Given the description of an element on the screen output the (x, y) to click on. 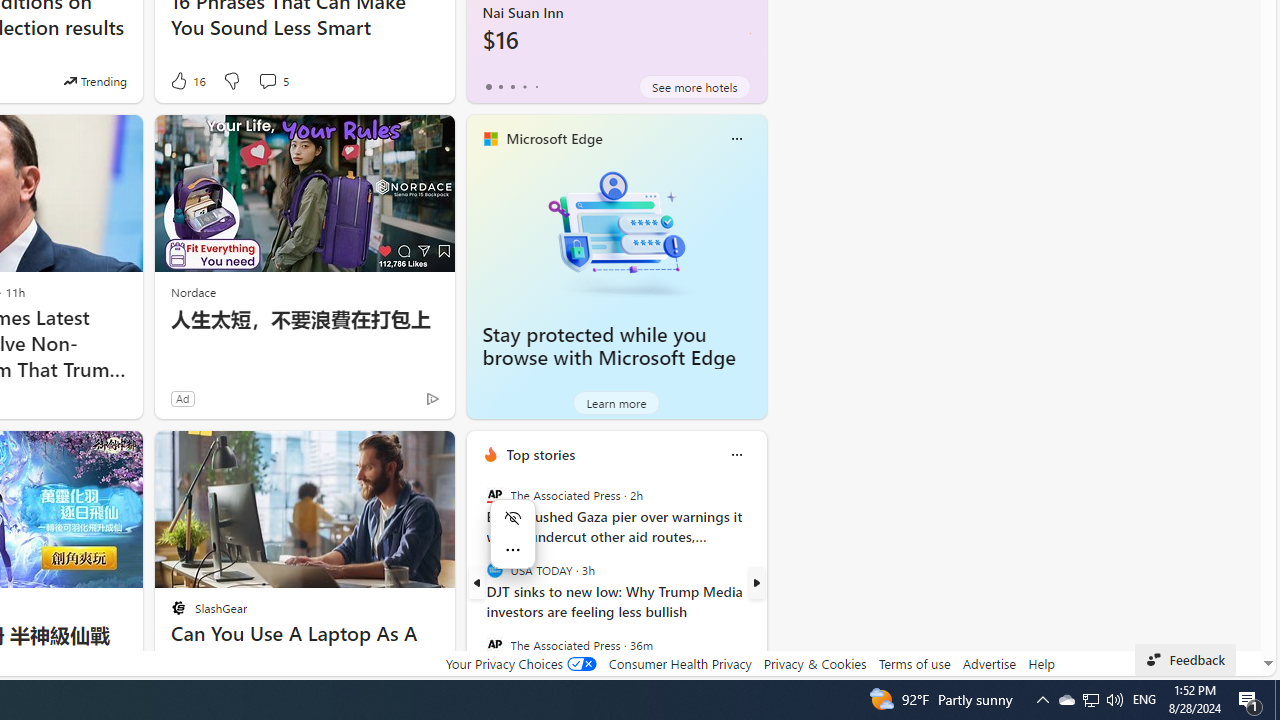
Hide this story (393, 454)
tab-4 (535, 86)
View comments 5 Comment (272, 80)
16 Like (186, 80)
tab-1 (500, 86)
USA TODAY (494, 570)
Stay protected while you browse with Microsoft Edge (609, 346)
Microsoft Edge (553, 139)
Privacy & Cookies (814, 663)
Terms of use (914, 663)
